Given the description of an element on the screen output the (x, y) to click on. 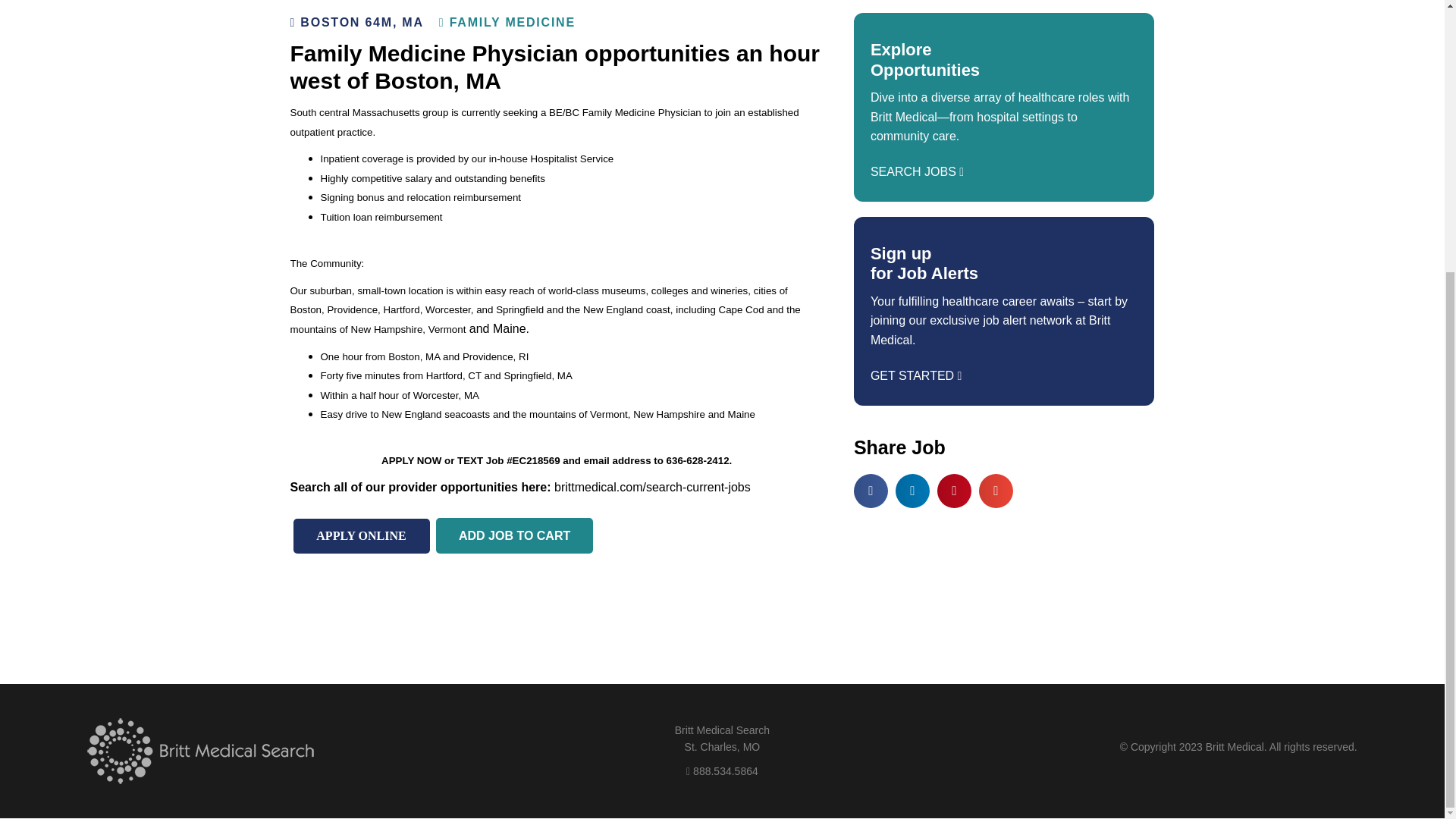
Britt Medical Logo gray (200, 750)
APPLY ONLINE (360, 535)
